Given the description of an element on the screen output the (x, y) to click on. 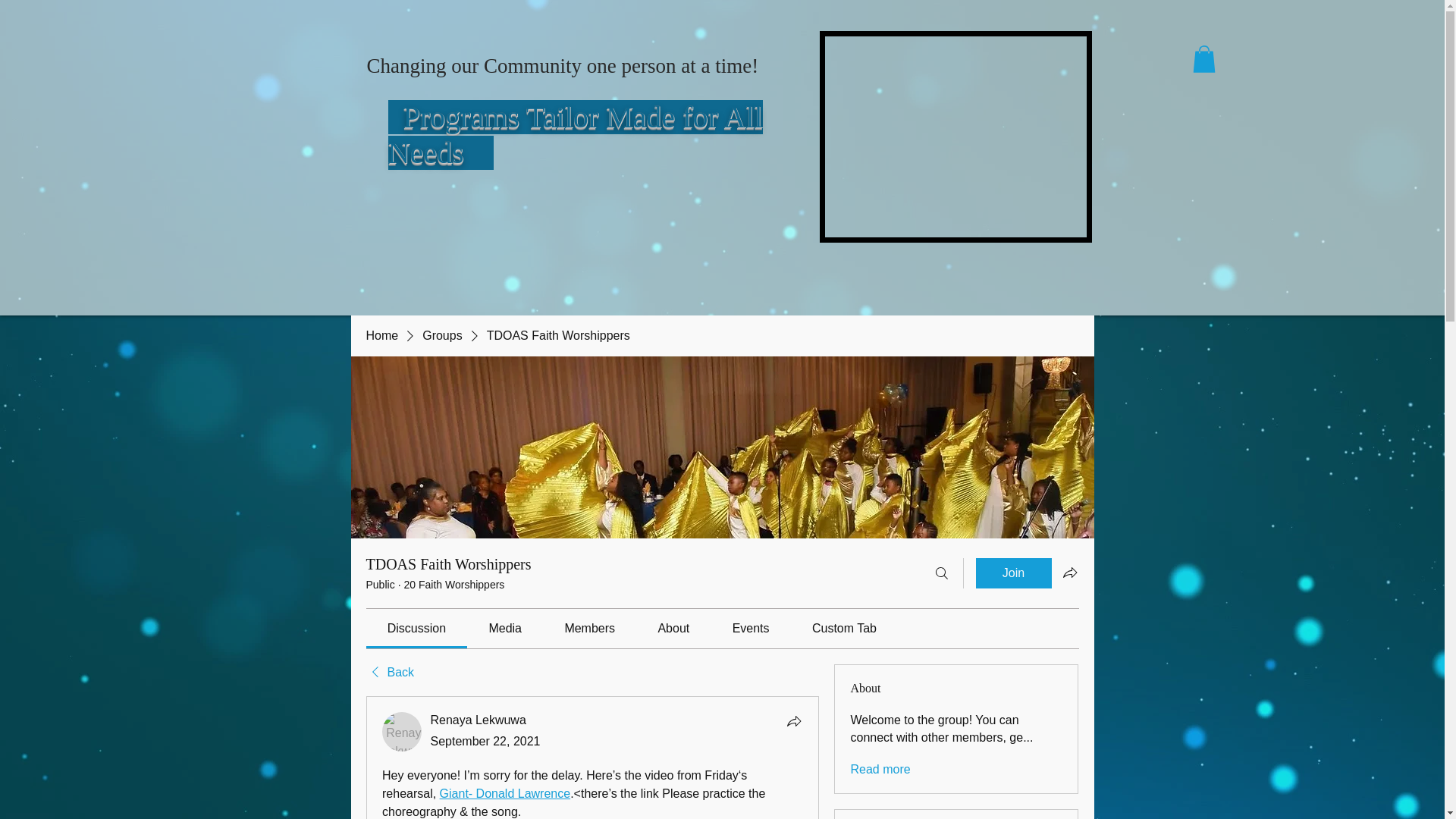
Giant- Donald Lawrence (504, 793)
Back (389, 672)
September 22, 2021 (485, 740)
Renaya Lekwuwa (477, 719)
Join (1013, 572)
Read more (880, 769)
Renaya Lekwuwa (477, 719)
Renaya Lekwuwa (401, 731)
Home (381, 335)
Groups (441, 335)
